Given the description of an element on the screen output the (x, y) to click on. 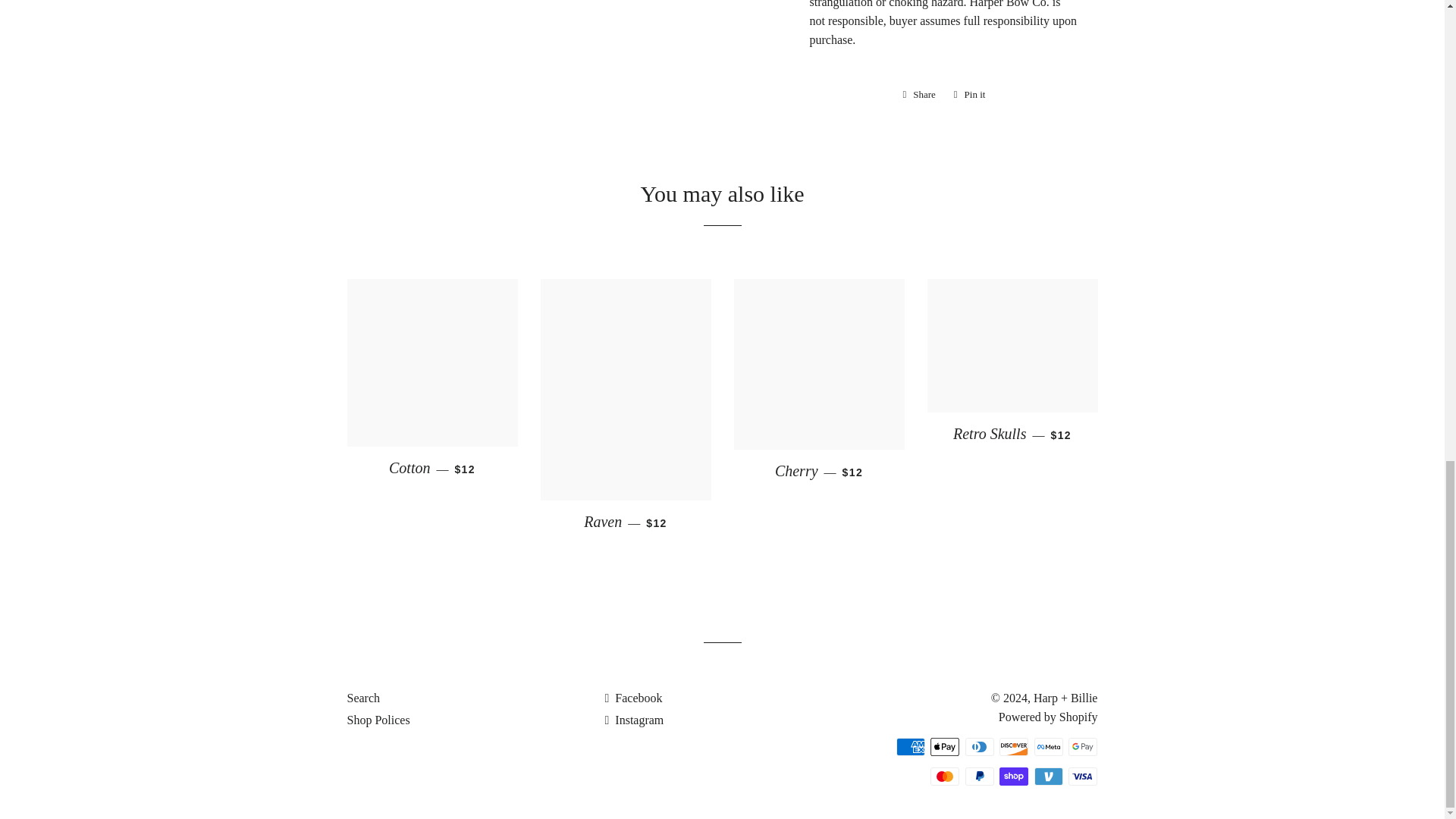
Meta Pay (1047, 746)
Share on Facebook (918, 94)
Diners Club (979, 746)
Discover (1012, 746)
Visa (1082, 776)
Apple Pay (944, 746)
Mastercard (944, 776)
Google Pay (1082, 746)
Venmo (1047, 776)
Pin on Pinterest (969, 94)
